Given the description of an element on the screen output the (x, y) to click on. 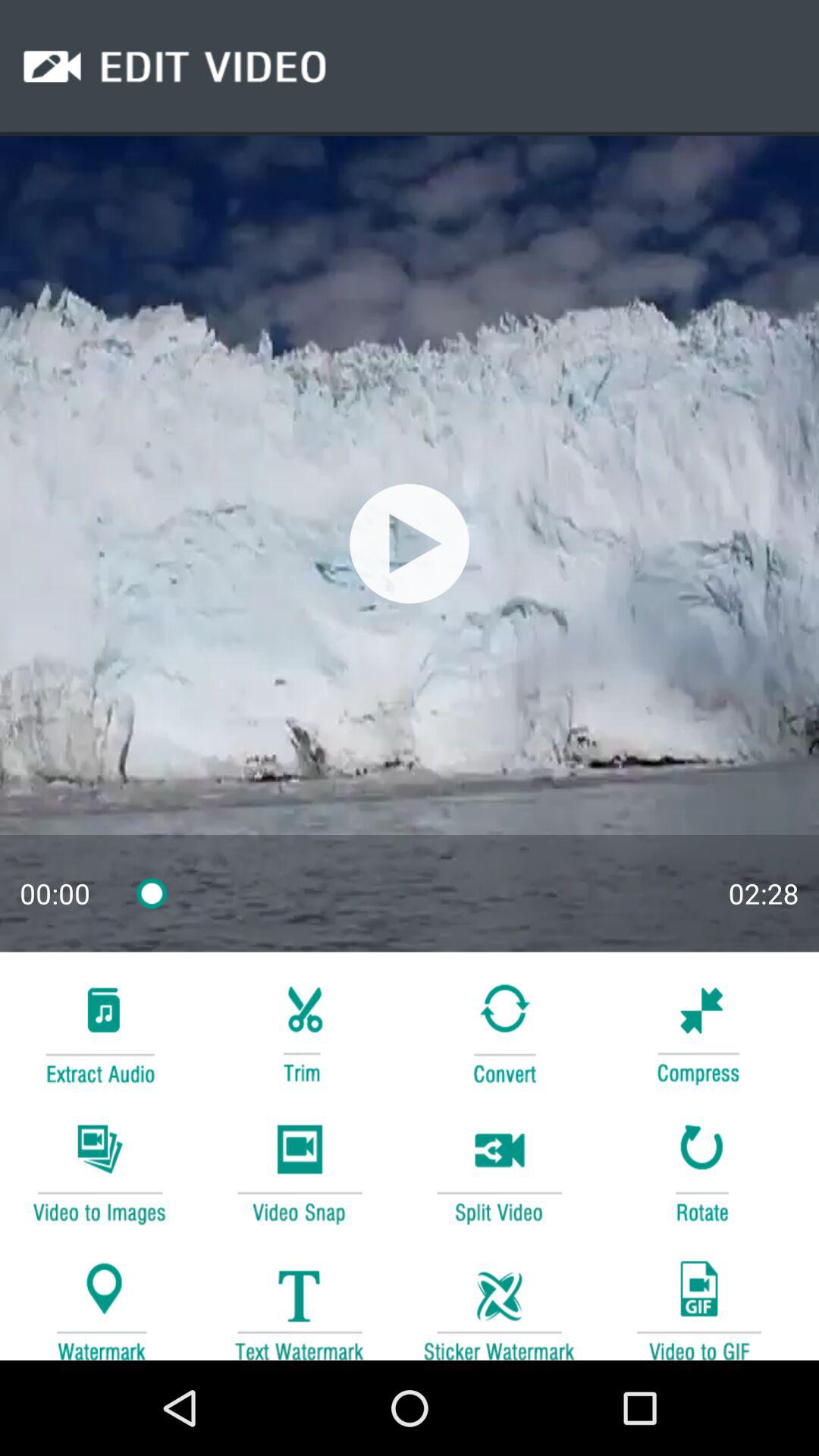
convert video to images (99, 1171)
